Given the description of an element on the screen output the (x, y) to click on. 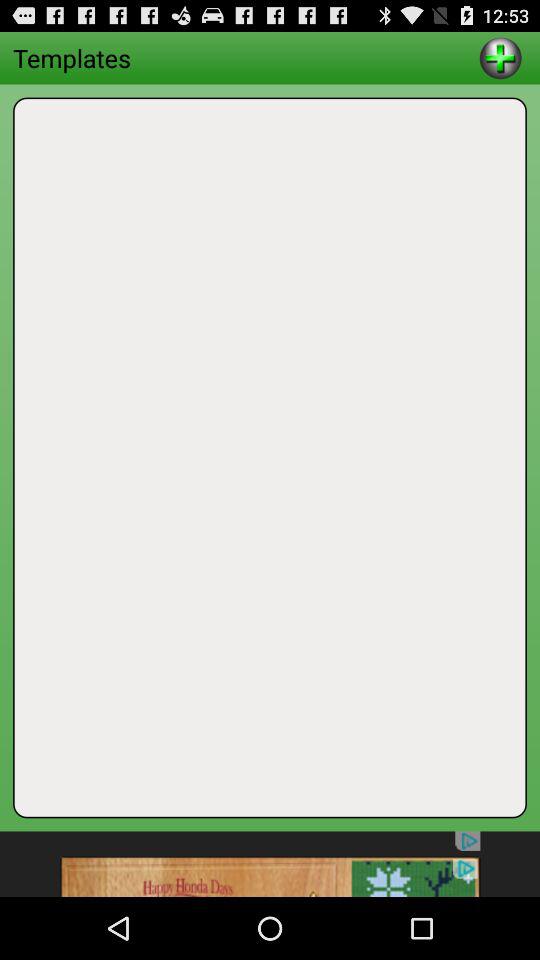
click advertisement (270, 864)
